Given the description of an element on the screen output the (x, y) to click on. 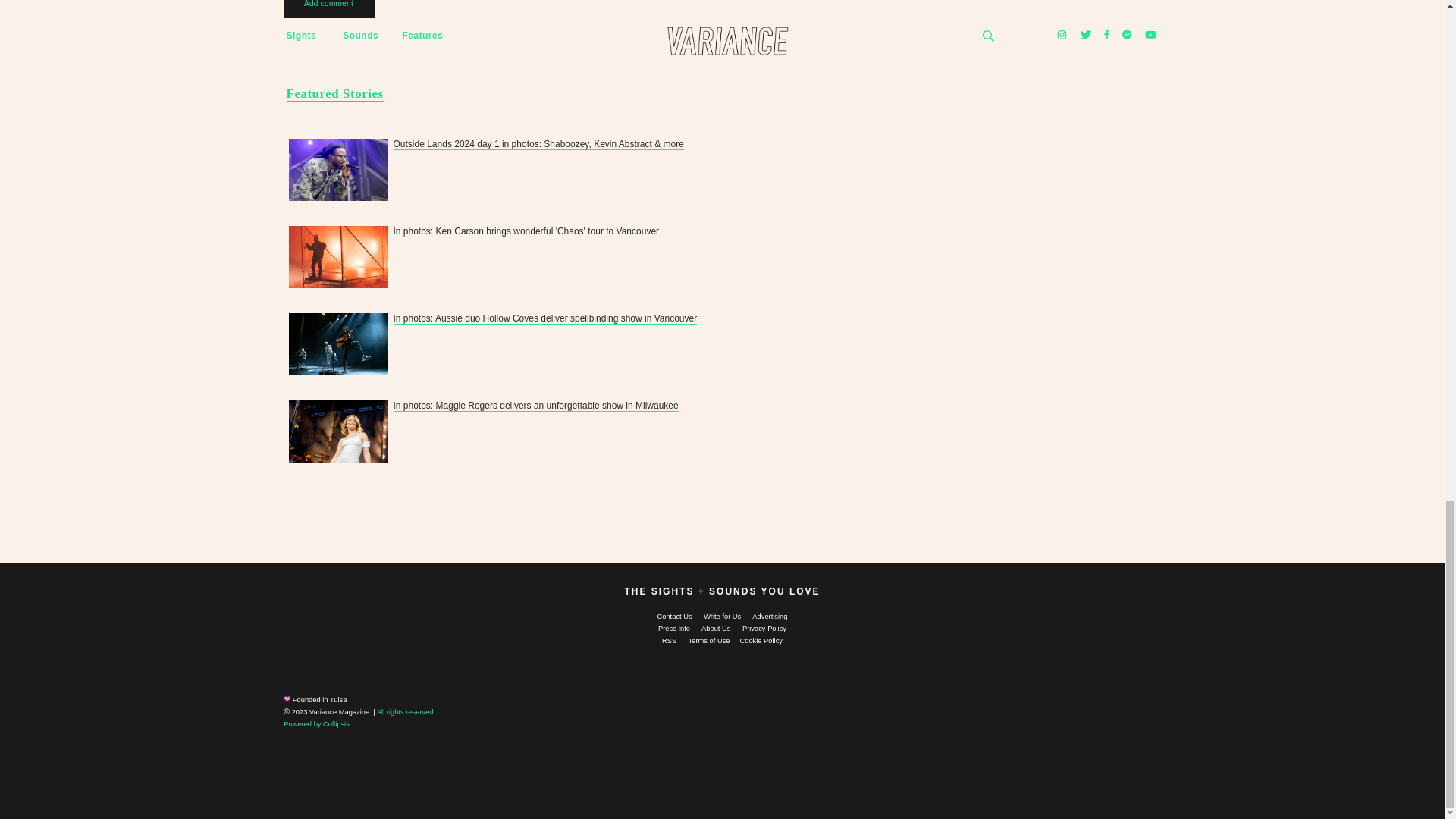
Add comment (328, 10)
